Given the description of an element on the screen output the (x, y) to click on. 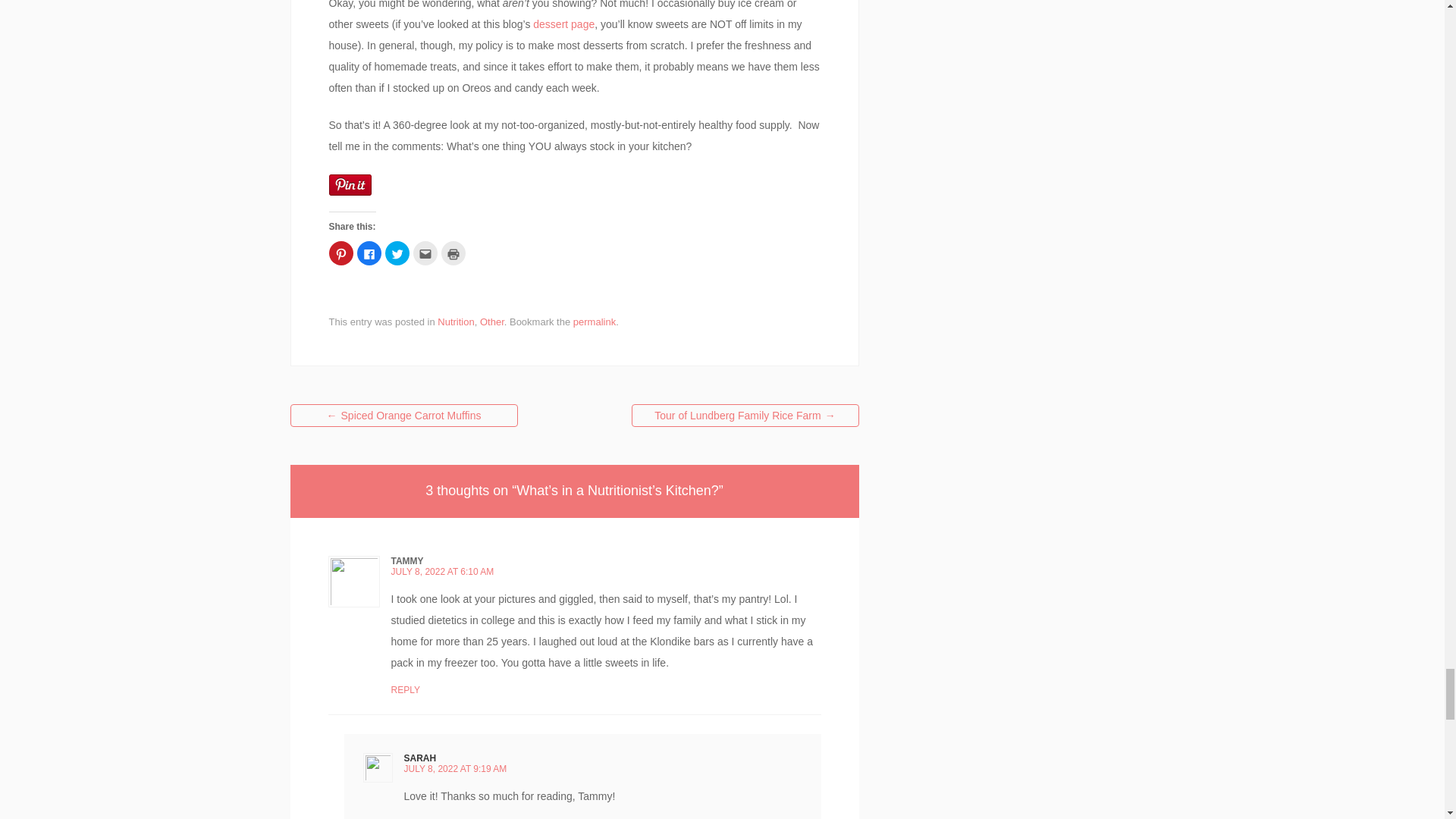
Click to share on Pinterest (341, 252)
Click to share on Facebook (368, 252)
Click to share on Twitter (397, 252)
Click to print (453, 252)
Click to email this to a friend (424, 252)
